Given the description of an element on the screen output the (x, y) to click on. 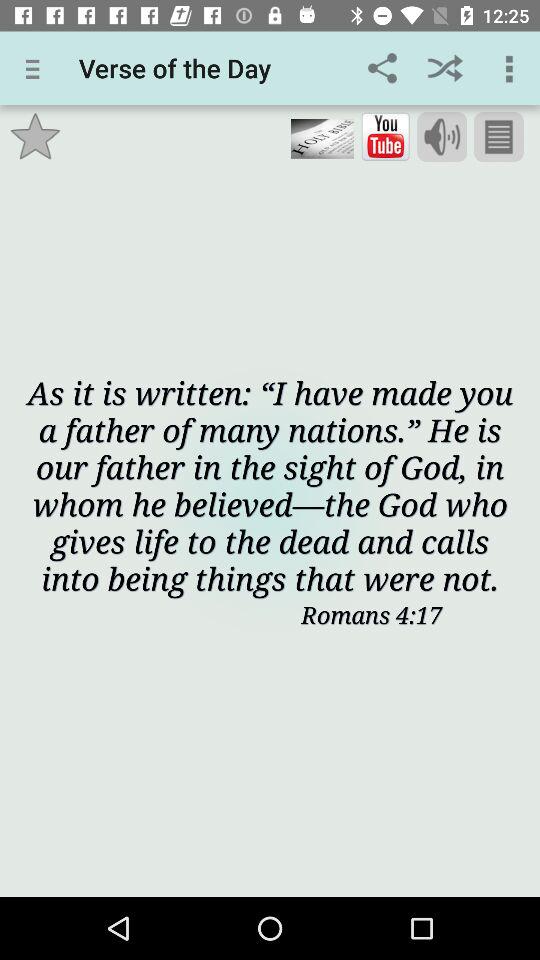
press the icon to the left of the verse of the (36, 68)
